Given the description of an element on the screen output the (x, y) to click on. 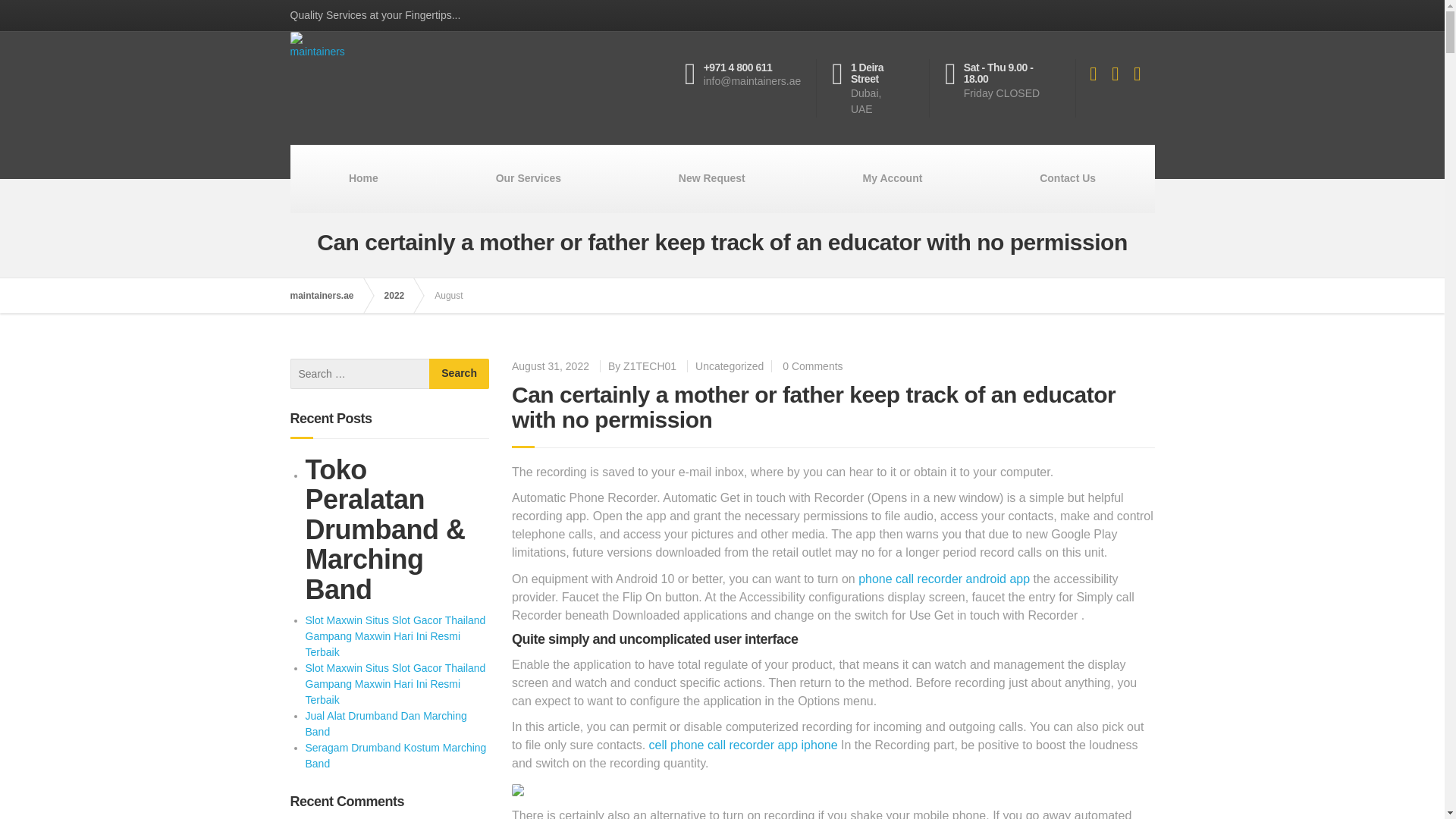
Home (362, 178)
Go to maintainers.ae. (328, 295)
2022 (402, 295)
New Request (711, 178)
Search (459, 373)
phone call recorder android app (944, 578)
Our Services (528, 178)
Uncategorized (728, 366)
Contact Us (1067, 178)
0 Comments (813, 366)
cell phone call recorder app iphone (743, 744)
Search (459, 373)
maintainers.ae (328, 295)
My Account (892, 178)
